Given the description of an element on the screen output the (x, y) to click on. 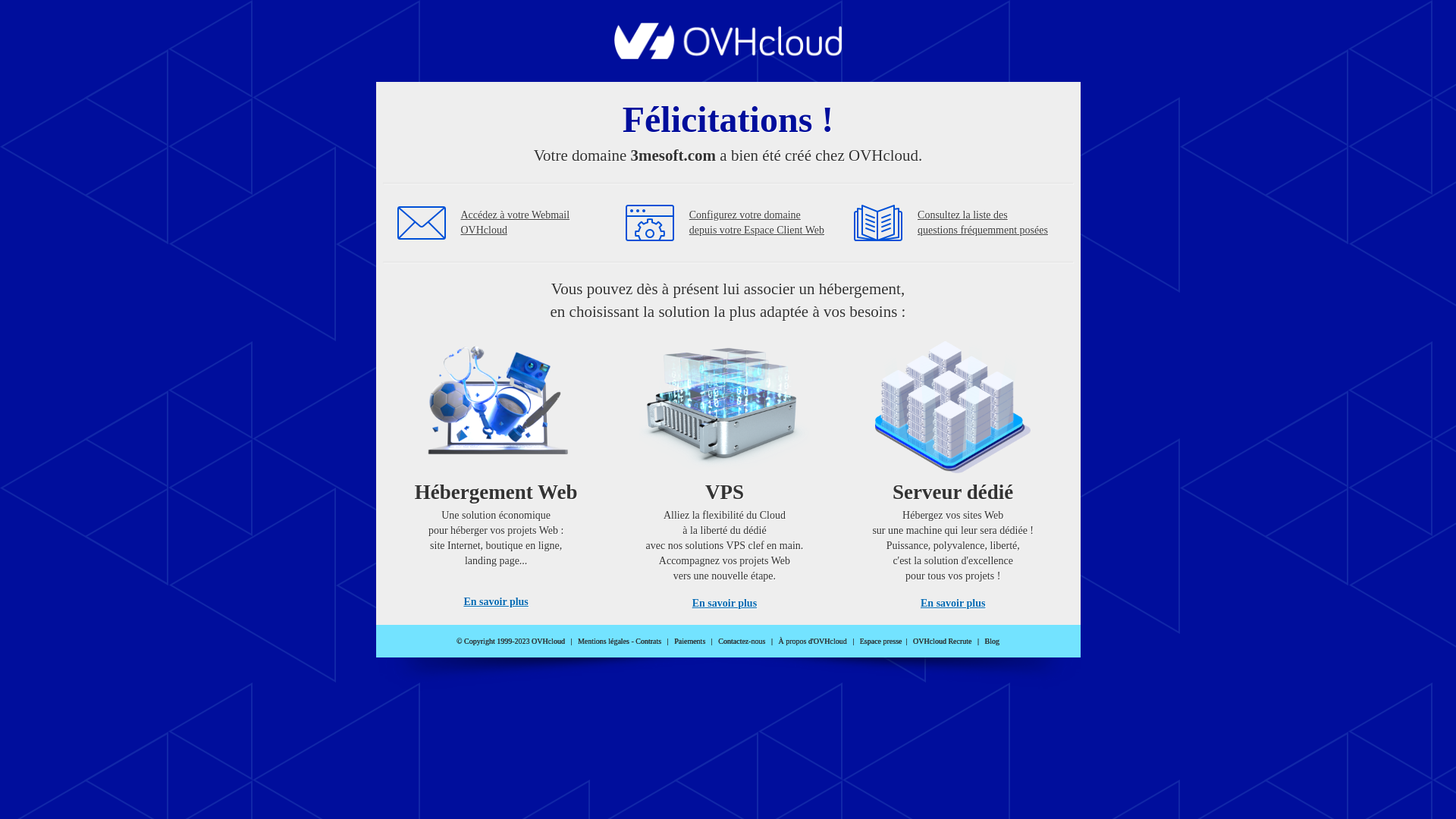
Espace presse Element type: text (880, 641)
VPS Element type: hover (724, 469)
OVHcloud Element type: hover (727, 54)
Configurez votre domaine
depuis votre Espace Client Web Element type: text (756, 222)
OVHcloud Recrute Element type: text (942, 641)
En savoir plus Element type: text (952, 602)
En savoir plus Element type: text (724, 602)
Contactez-nous Element type: text (741, 641)
Blog Element type: text (992, 641)
Paiements Element type: text (689, 641)
En savoir plus Element type: text (495, 601)
